Given the description of an element on the screen output the (x, y) to click on. 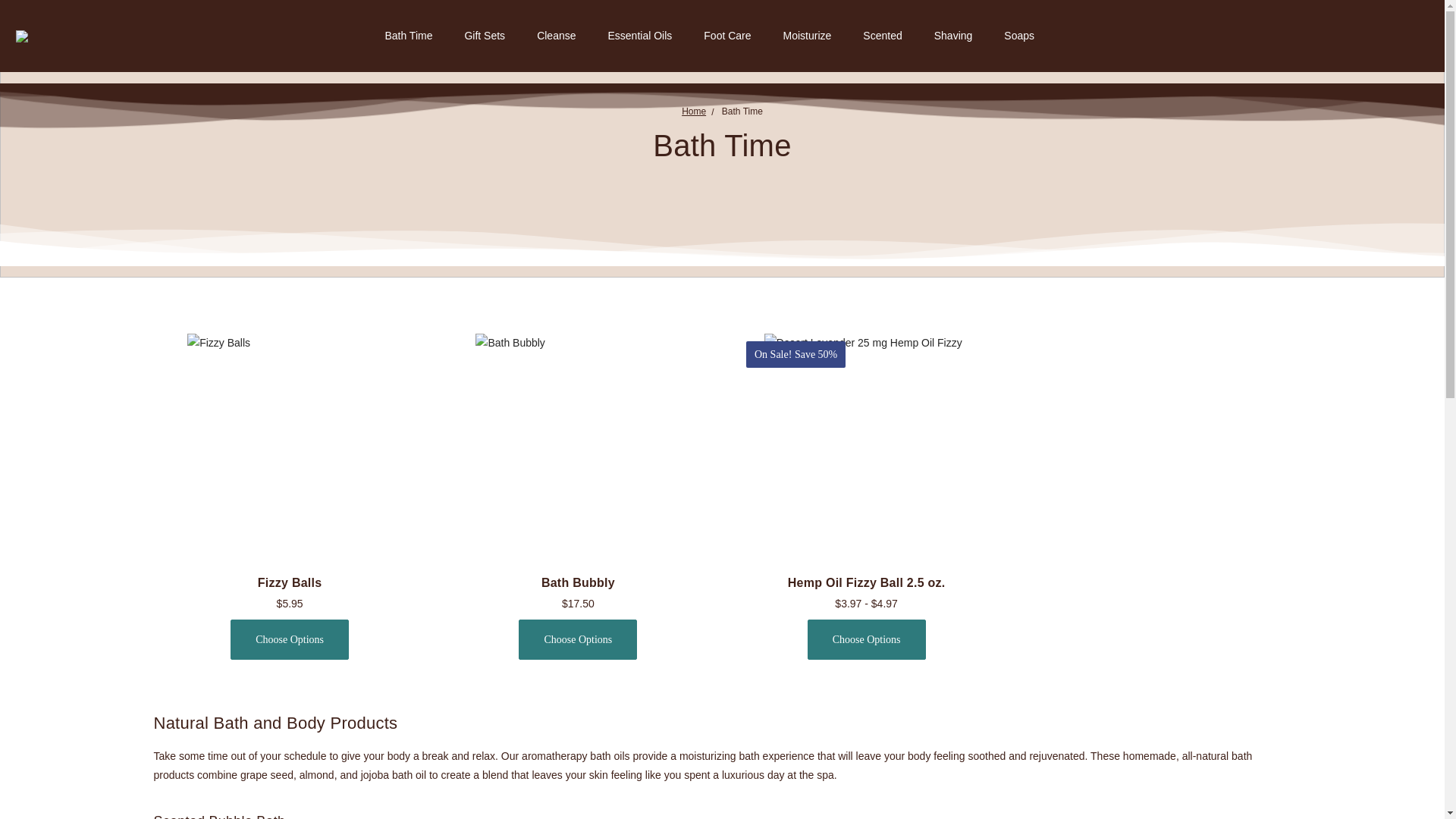
Shaving (953, 35)
Fizzy Balls (289, 435)
Desert Lavender 25 mg Hemp Oil Fizzy Ball 2.5 oz. (866, 435)
Hemp Oil Fizzy Ball 2.5 oz. (865, 582)
Bath Time (742, 111)
Bath Time (408, 35)
Bath Bubbly (577, 435)
Bath Bubbly (577, 582)
Essential Oils (639, 35)
Home (693, 111)
